Given the description of an element on the screen output the (x, y) to click on. 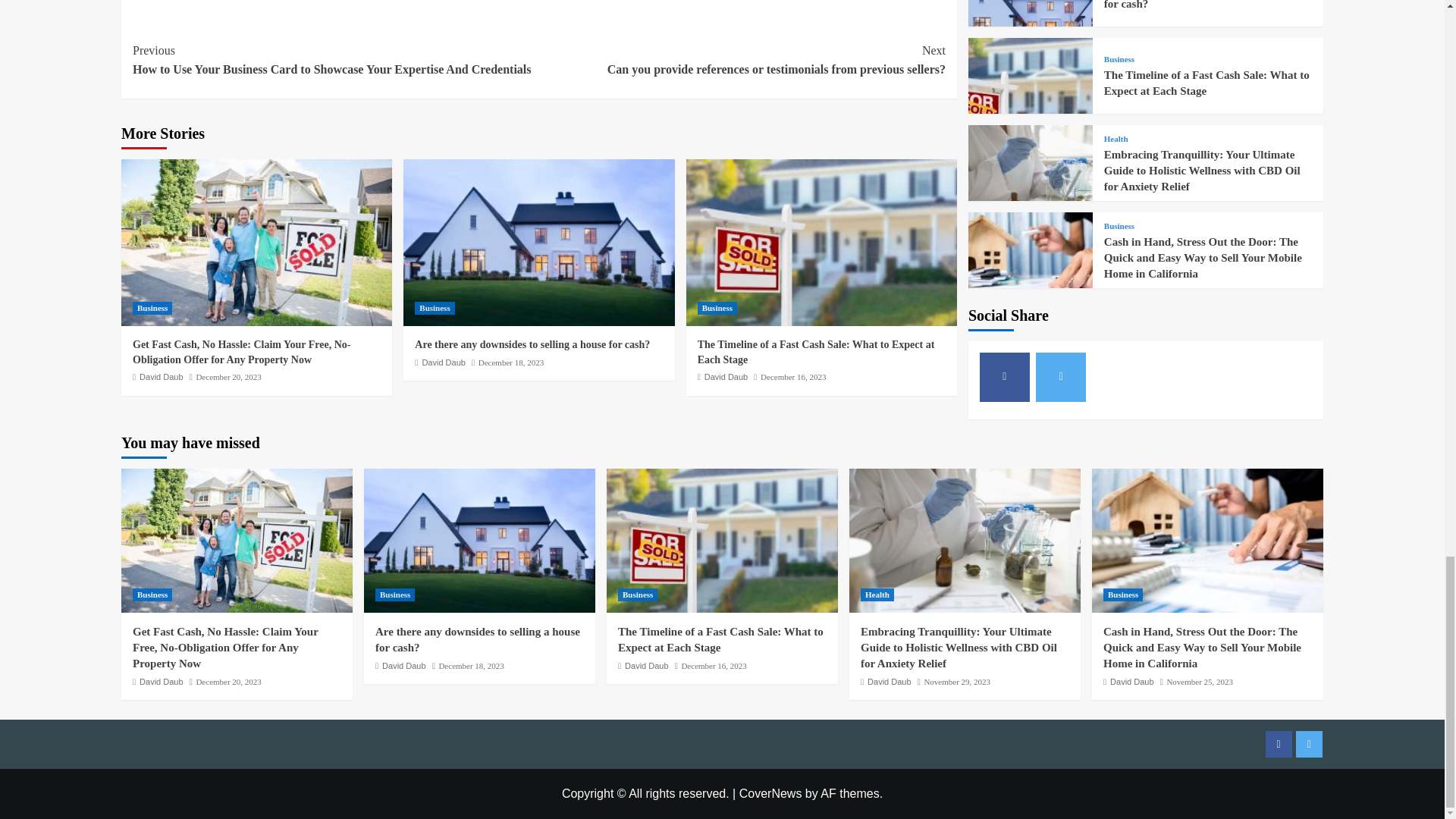
David Daub (443, 361)
December 18, 2023 (511, 361)
Business (434, 308)
December 16, 2023 (792, 376)
David Daub (161, 376)
Business (716, 308)
Are there any downsides to selling a house for cash? (531, 344)
David Daub (726, 376)
